Given the description of an element on the screen output the (x, y) to click on. 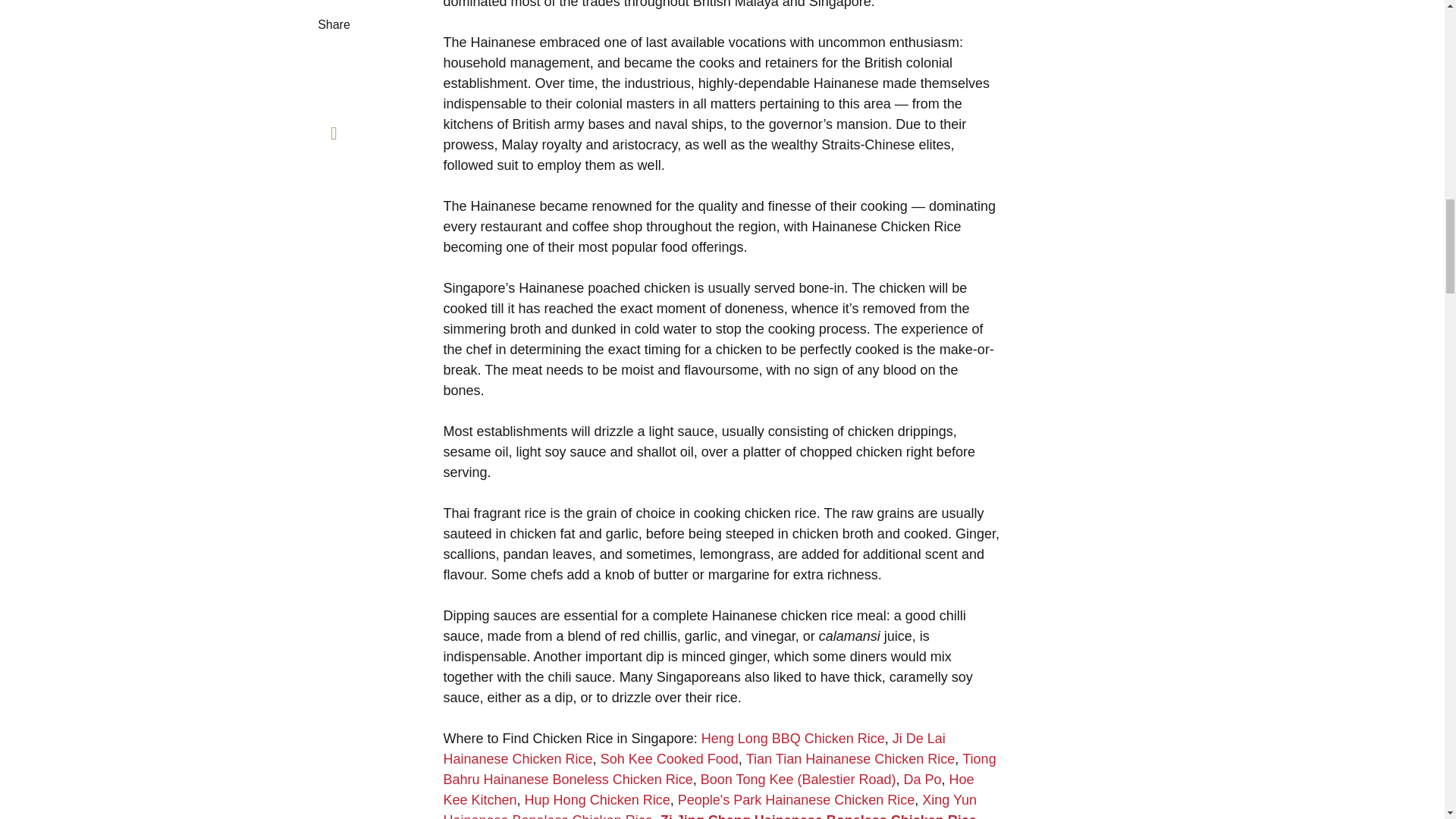
Da Po (923, 779)
Hoe Kee Kitchen (708, 789)
Xing Yun Hainanese Boneless Chicken Rice (709, 805)
Hup Hong Chicken Rice (596, 799)
Zi Jing Cheng Hainanese Boneless Chicken Rice (818, 816)
Soh Kee Cooked Food (668, 758)
Heng Long BBQ Chicken Rice (793, 738)
People's Park Hainanese Chicken Rice (796, 799)
Tiong Bahru Hainanese Boneless Chicken Rice (718, 769)
Tian Tian Hainanese Chicken Rice (850, 758)
Ji De Lai Hainanese Chicken Rice (693, 748)
